Given the description of an element on the screen output the (x, y) to click on. 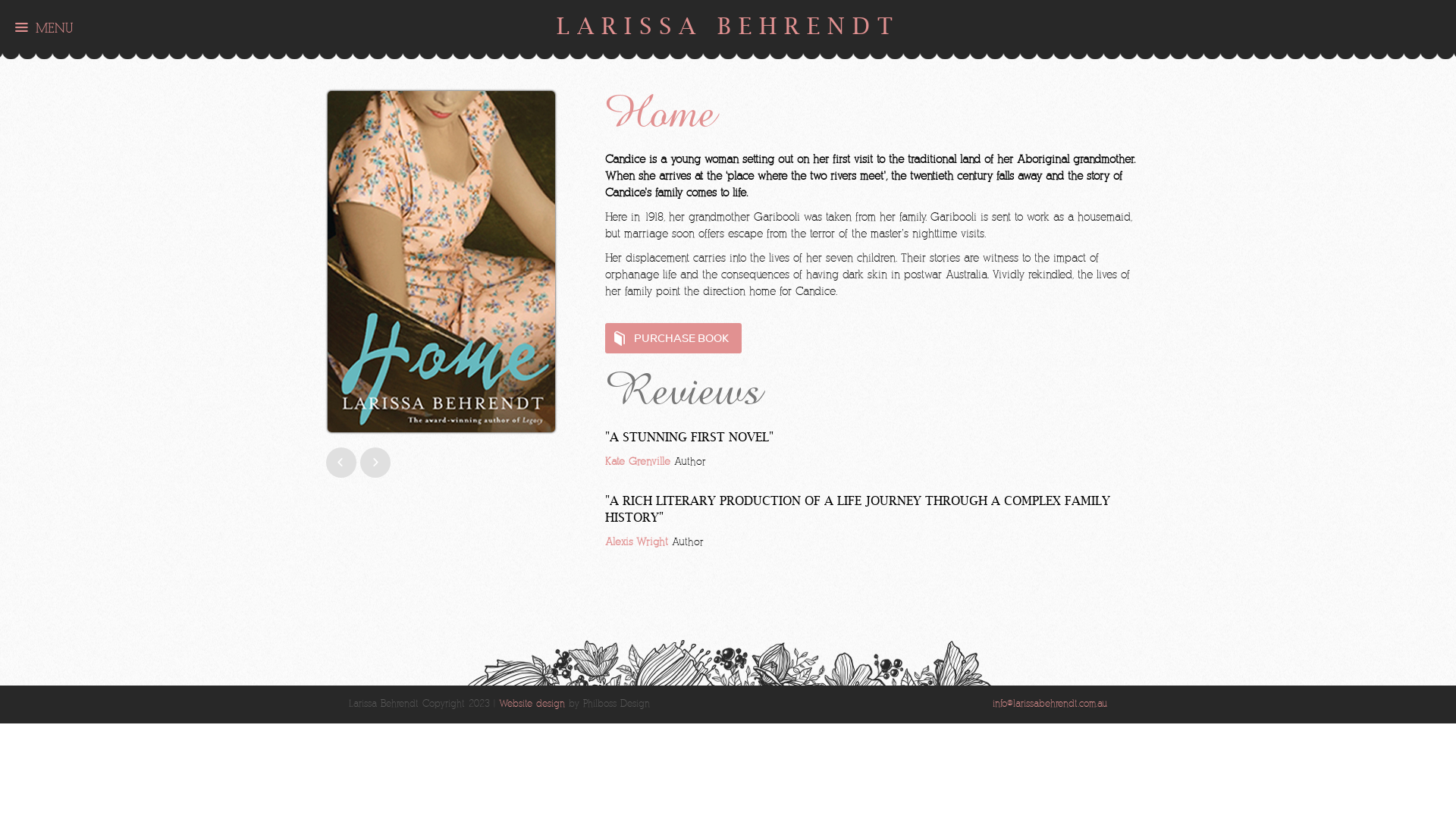
PURCHASE BOOK Element type: text (673, 338)
Next Post Element type: text (341, 462)
LARISSA BEHRENDT Element type: text (728, 25)
Website design Element type: text (531, 704)
Previous Post Element type: text (375, 462)
MENU Element type: text (43, 27)
info@larissabehrendt.com.au Element type: text (1049, 704)
